Given the description of an element on the screen output the (x, y) to click on. 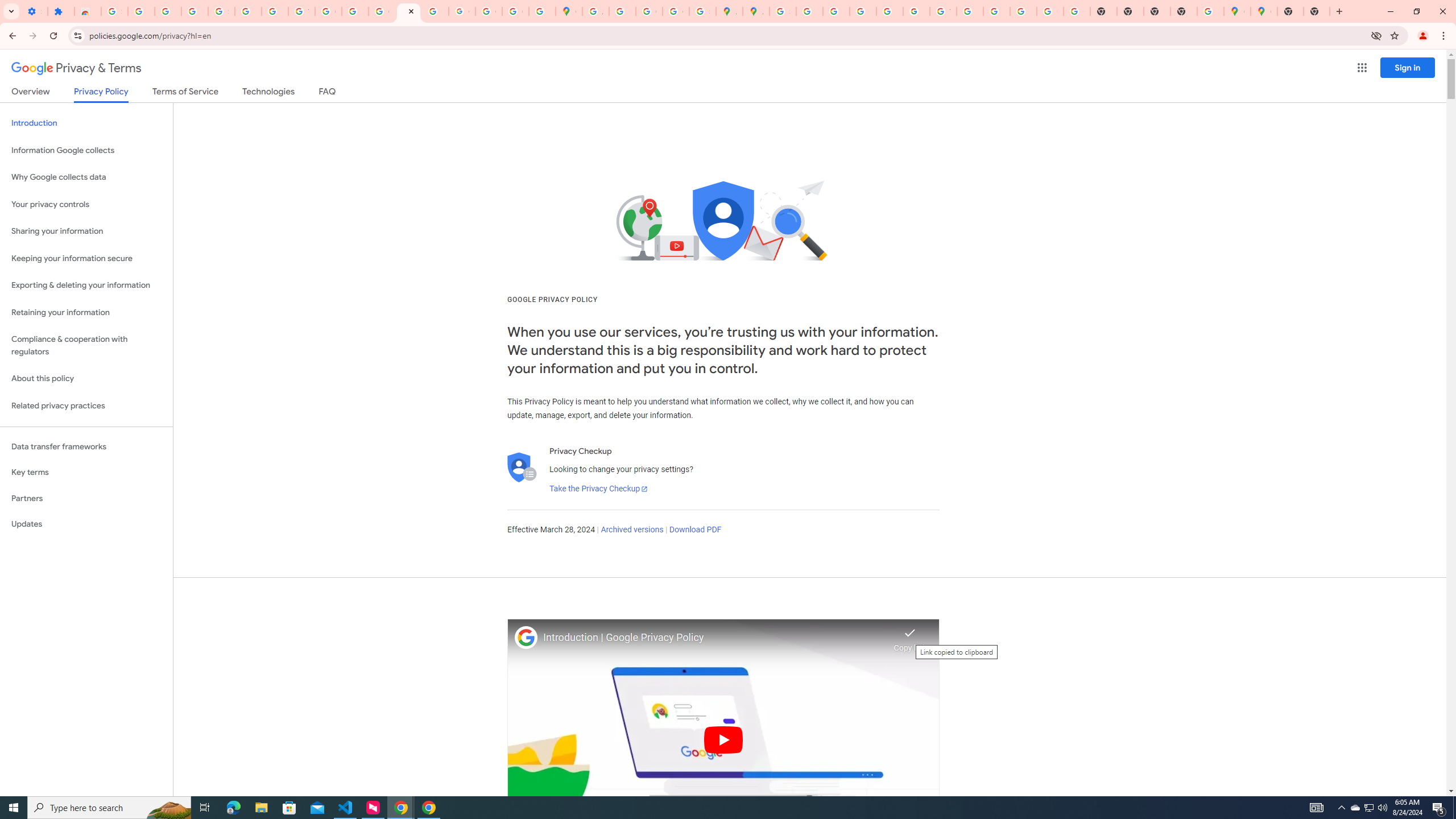
Sign in - Google Accounts (221, 11)
YouTube (301, 11)
Sharing your information (86, 230)
New Tab (1183, 11)
YouTube (943, 11)
New Tab (1290, 11)
https://scholar.google.com/ (355, 11)
Information Google collects (86, 150)
